Given the description of an element on the screen output the (x, y) to click on. 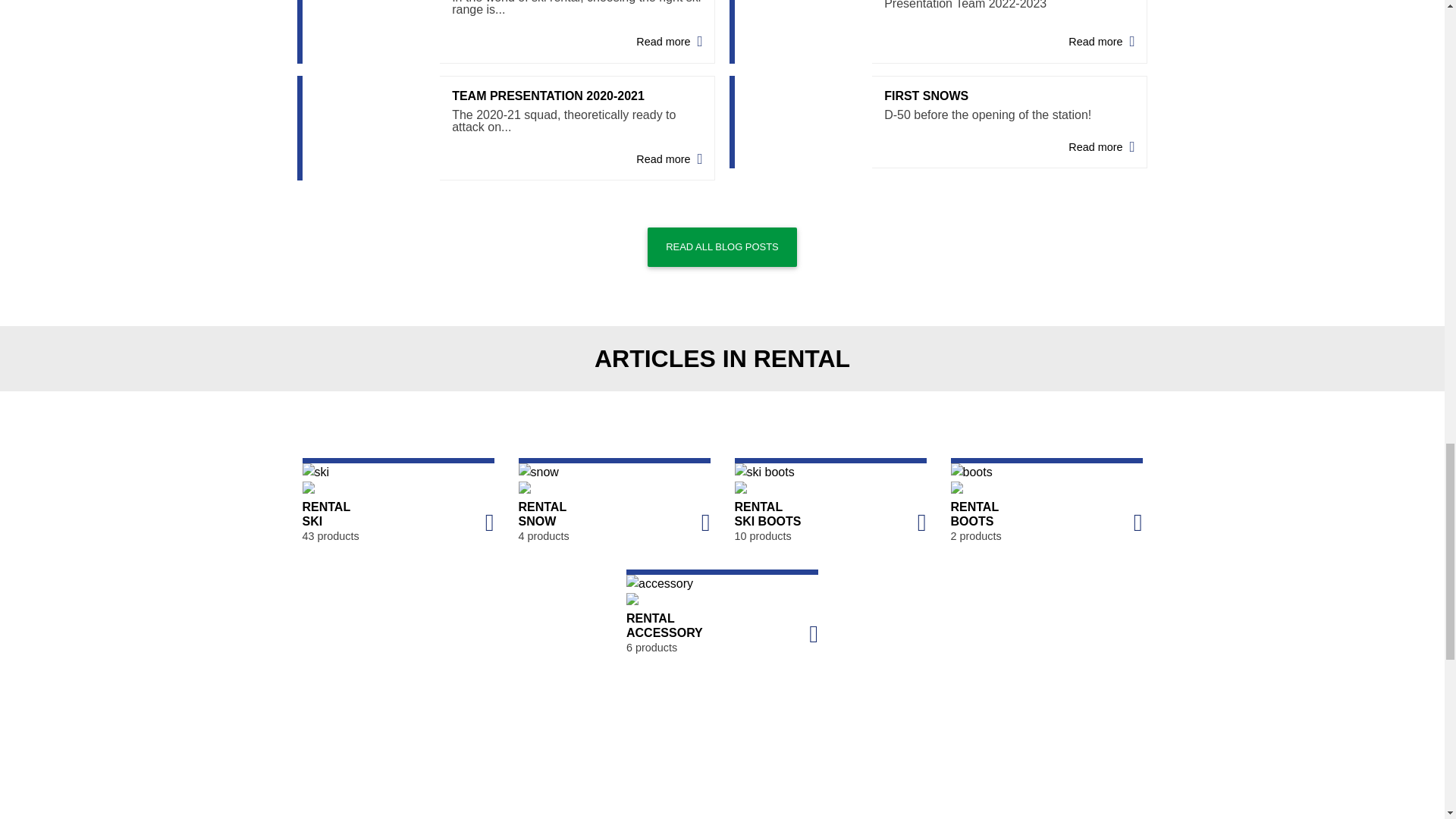
READ ALL BLOG POSTS (938, 31)
